Given the description of an element on the screen output the (x, y) to click on. 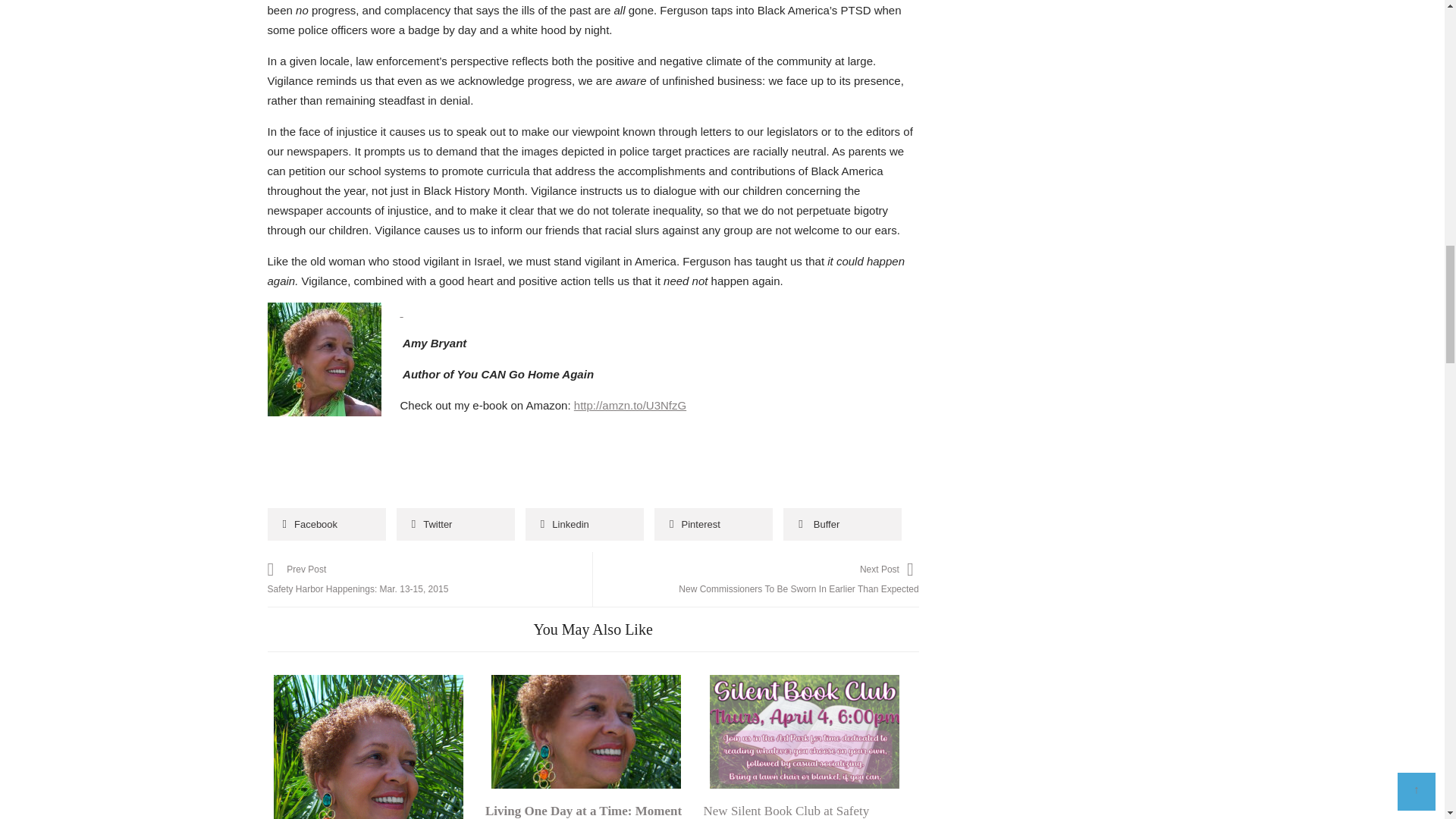
Buffer (842, 523)
Twitter (455, 523)
Facebook (325, 523)
New Silent Book Club at Safety Harbor Public Library (786, 811)
Linkedin (584, 523)
Pinterest (713, 523)
Living One Day at a Time: Moment by Moment In Appreciation (582, 811)
New Silent Book Club at Safety Harbor Public Library (804, 731)
